Given the description of an element on the screen output the (x, y) to click on. 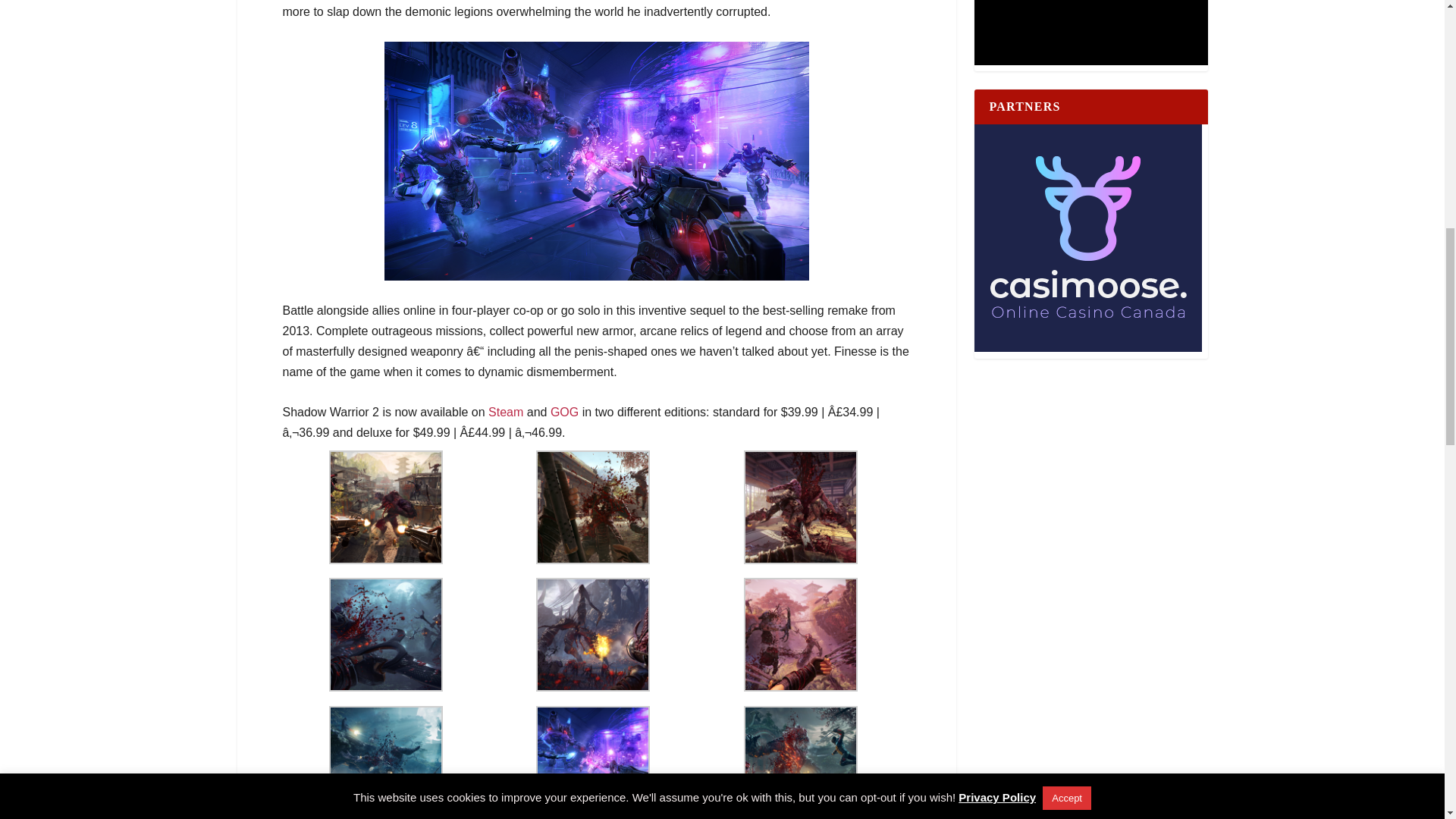
Steam (504, 411)
GOG (564, 411)
